Given the description of an element on the screen output the (x, y) to click on. 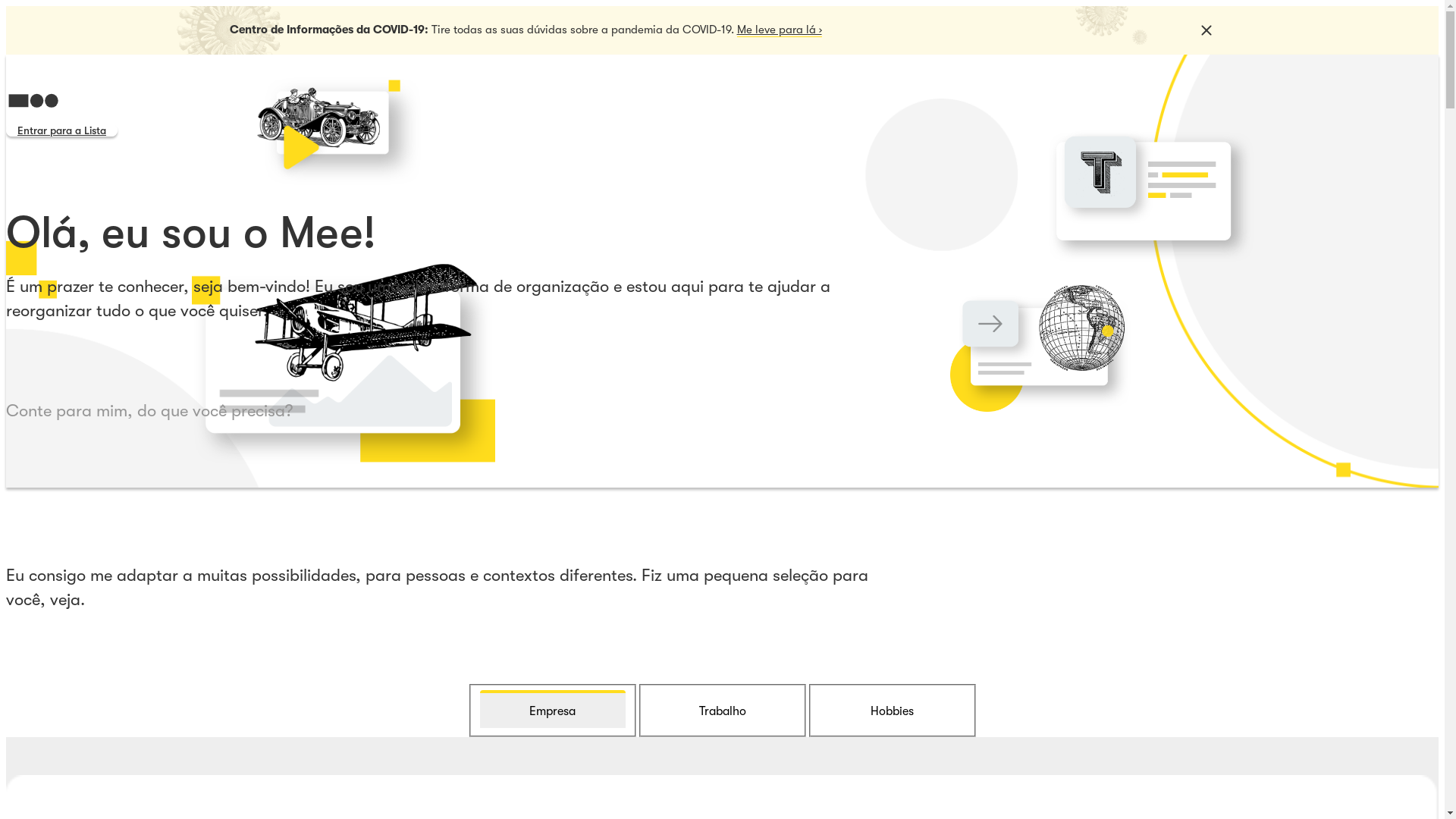
Entrar para a Lista Element type: text (61, 130)
Fechar Element type: hover (1205, 30)
